Given the description of an element on the screen output the (x, y) to click on. 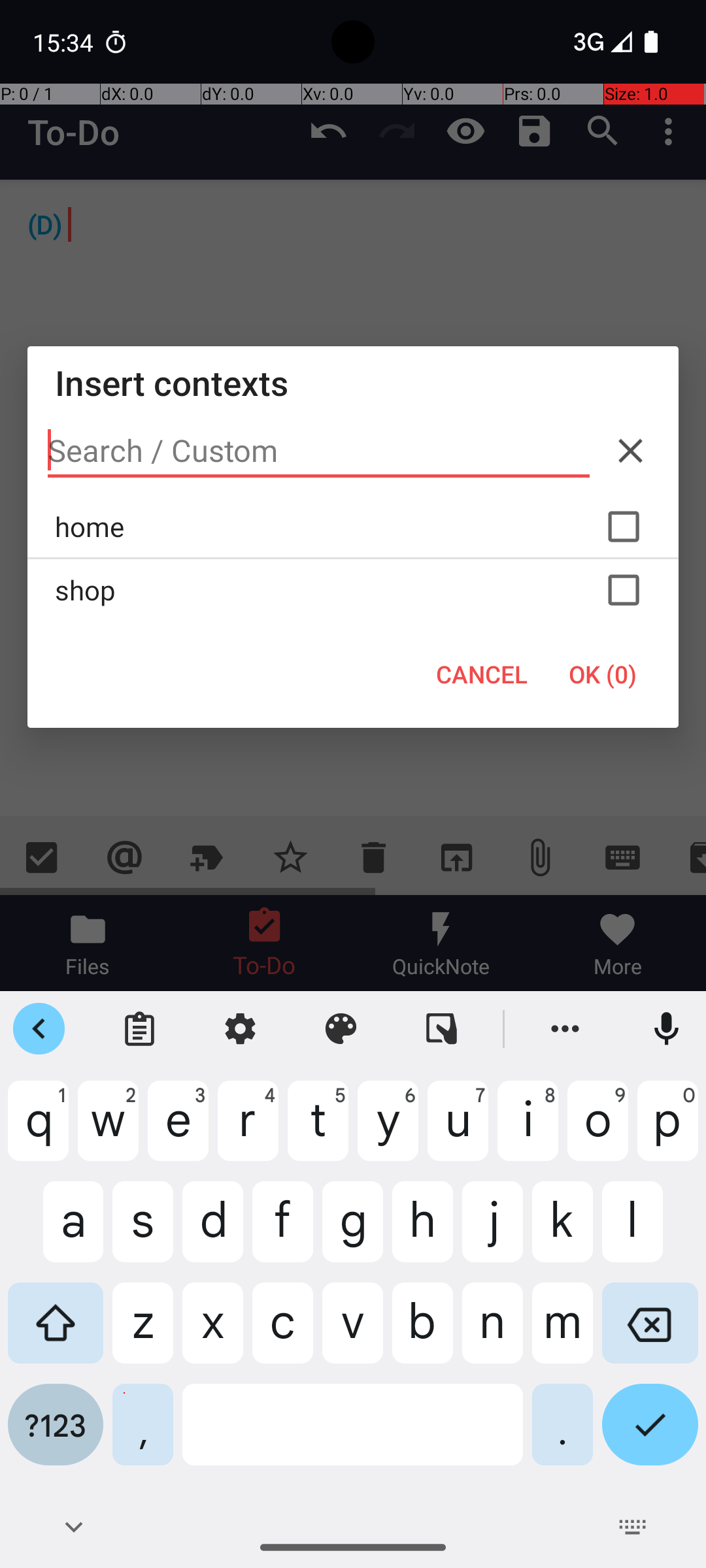
Insert contexts Element type: android.widget.TextView (352, 382)
Search / Custom Element type: android.widget.EditText (318, 450)
home Element type: android.widget.CheckedTextView (352, 526)
shop Element type: android.widget.CheckedTextView (352, 589)
